Given the description of an element on the screen output the (x, y) to click on. 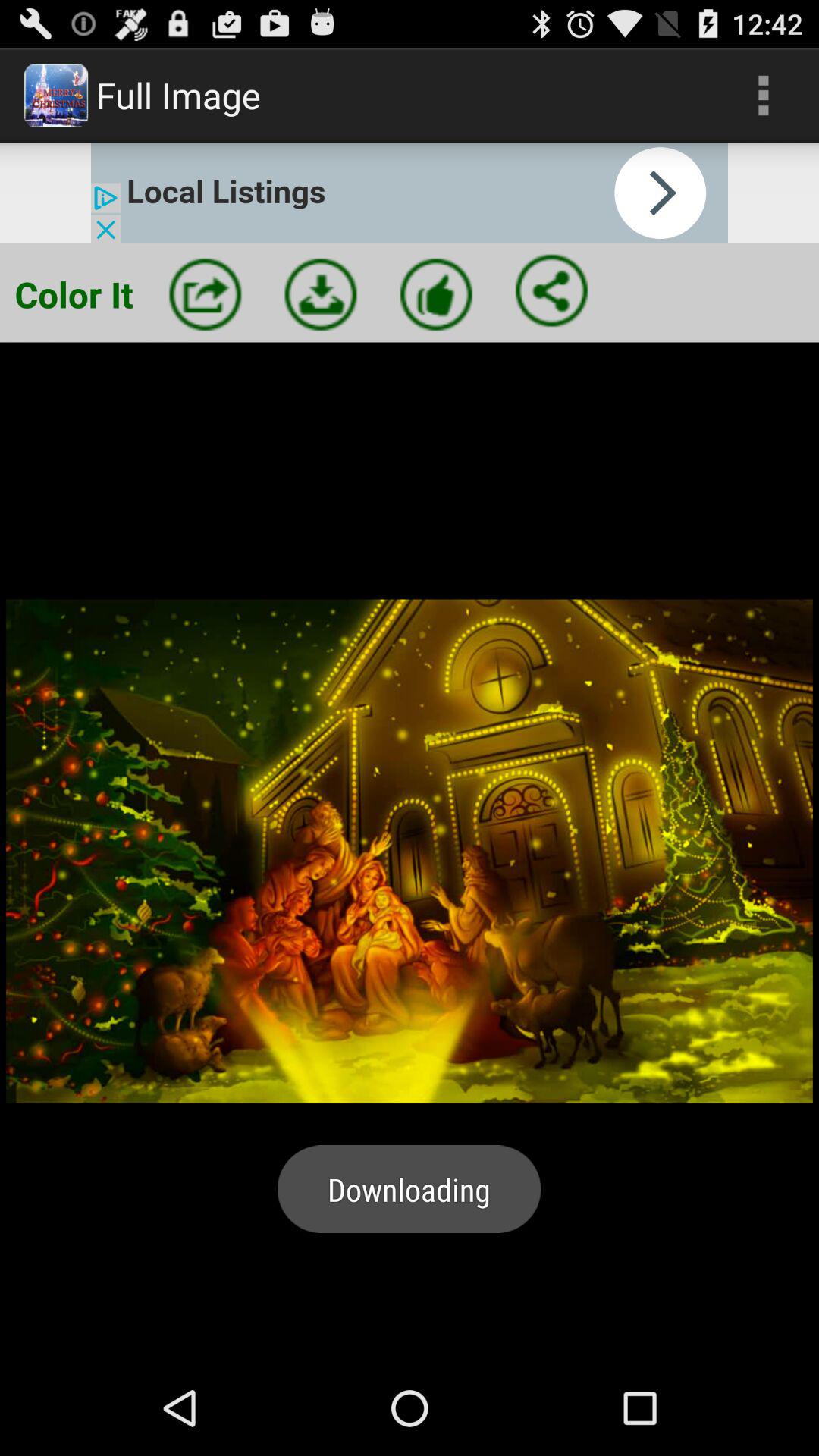
download item (320, 294)
